Given the description of an element on the screen output the (x, y) to click on. 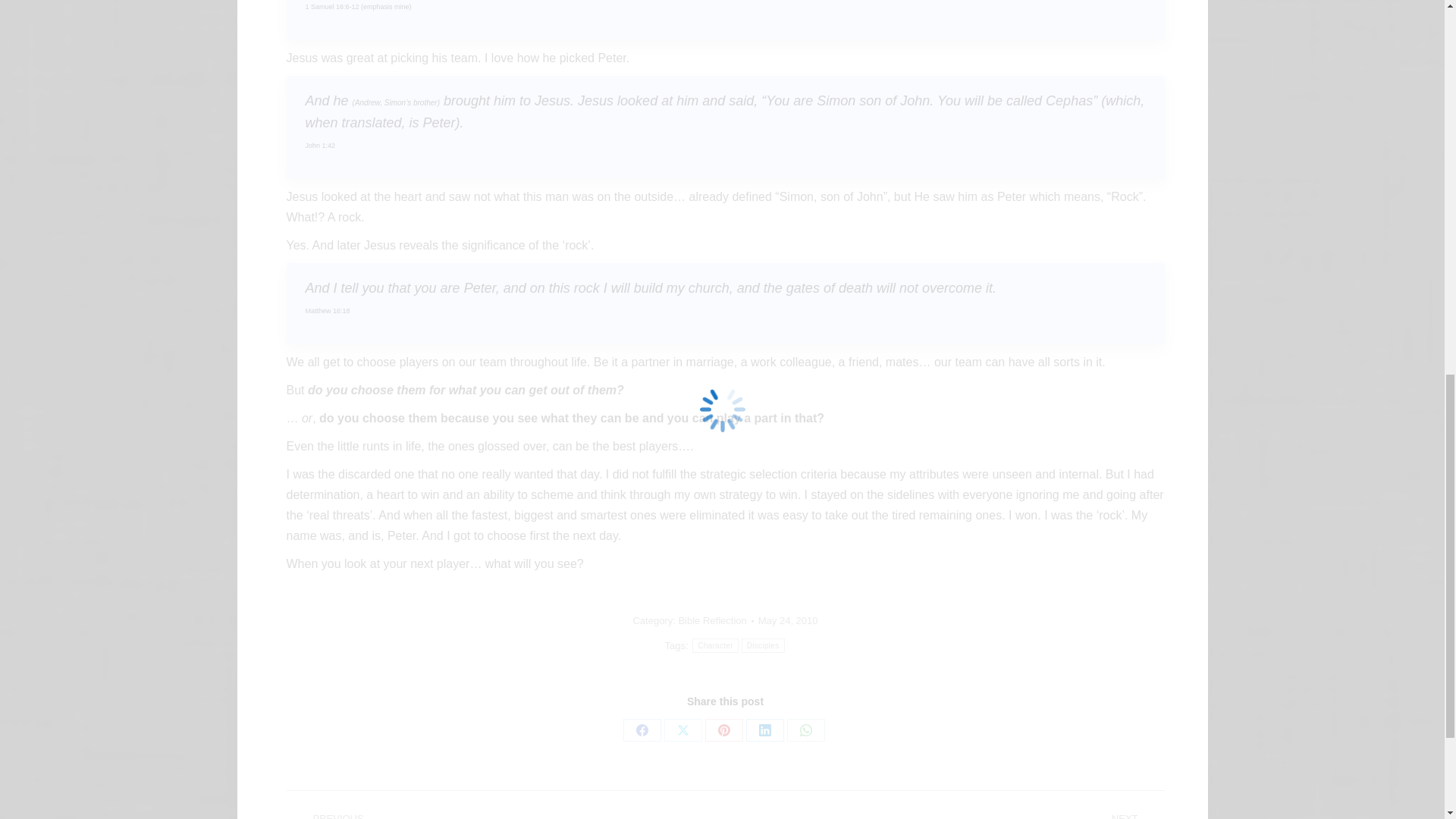
Share on Facebook (642, 730)
Disciples (762, 645)
LinkedIn (764, 730)
Share on Pinterest (723, 730)
Bible Reflection (711, 620)
Share on LinkedIn (764, 730)
Share on WhatsApp (806, 730)
May 24, 2010 (788, 620)
5:15 am (788, 620)
Share on X (682, 730)
